Given the description of an element on the screen output the (x, y) to click on. 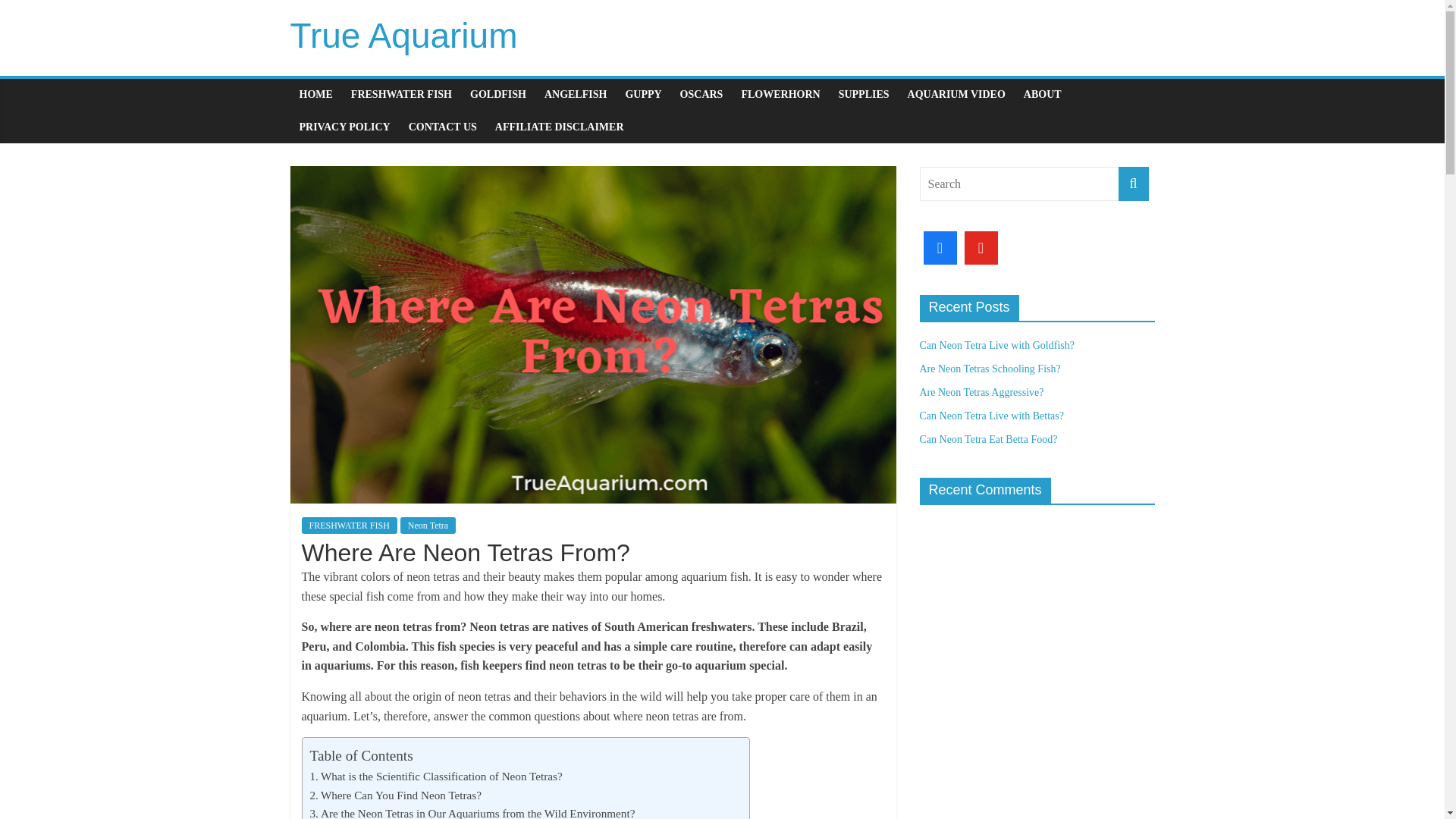
CONTACT US (442, 127)
PRIVACY POLICY (343, 127)
AFFILIATE DISCLAIMER (559, 127)
GOLDFISH (498, 94)
FRESHWATER FISH (349, 524)
Where Can You Find Neon Tetras? (394, 795)
AQUARIUM VIDEO (956, 94)
FLOWERHORN (780, 94)
HOME (314, 94)
